Given the description of an element on the screen output the (x, y) to click on. 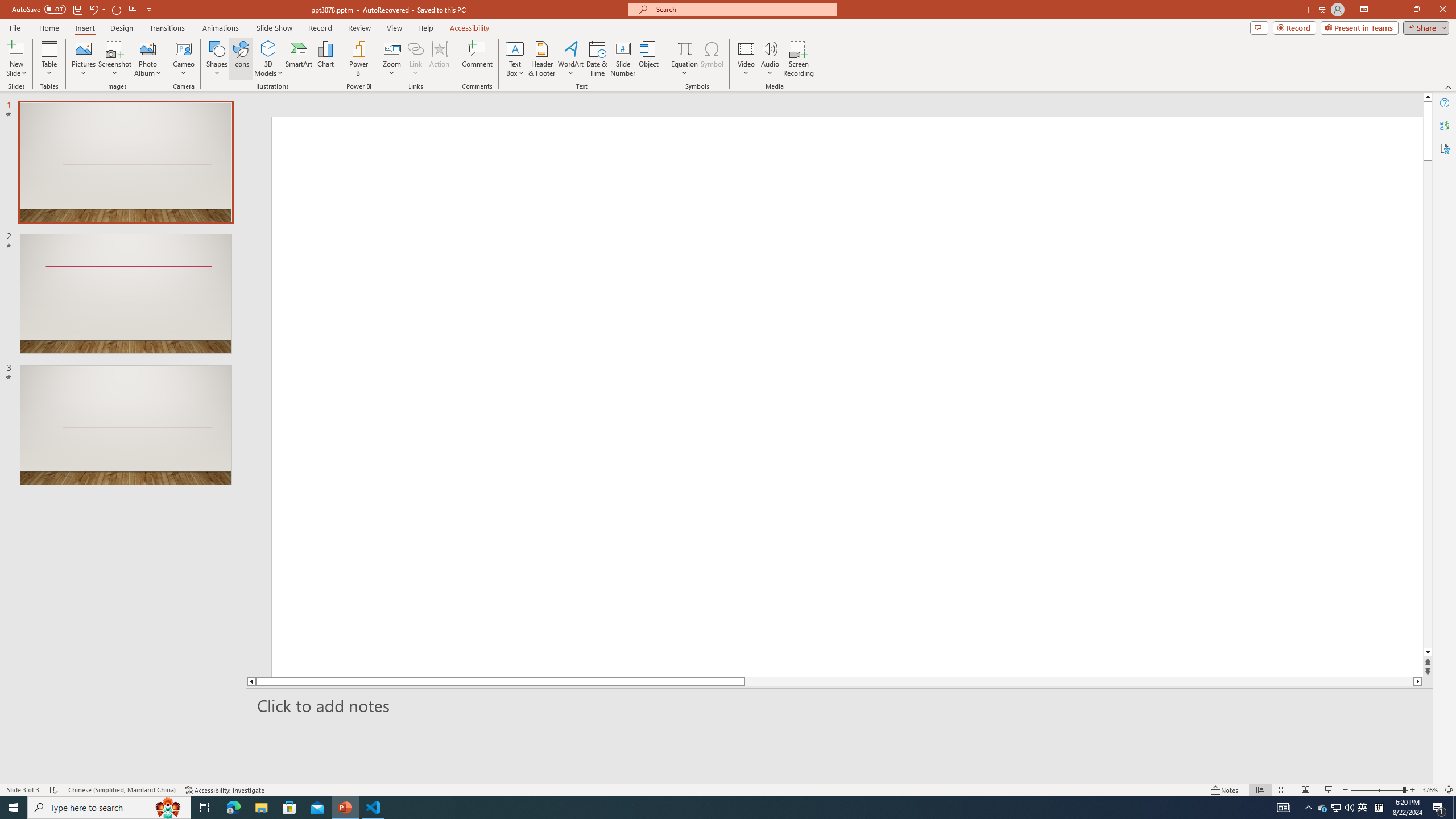
Photo Album... (147, 58)
